Given the description of an element on the screen output the (x, y) to click on. 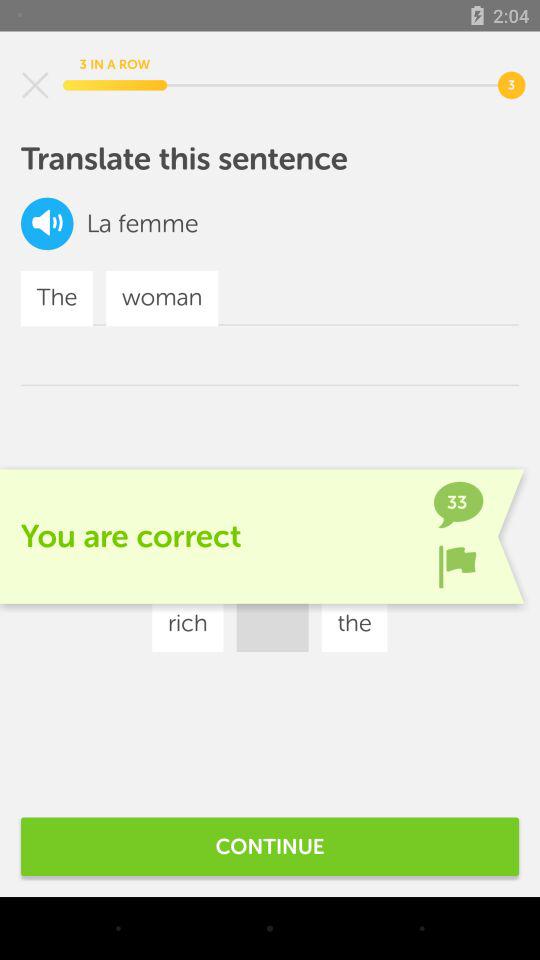
scroll until rich item (187, 624)
